Given the description of an element on the screen output the (x, y) to click on. 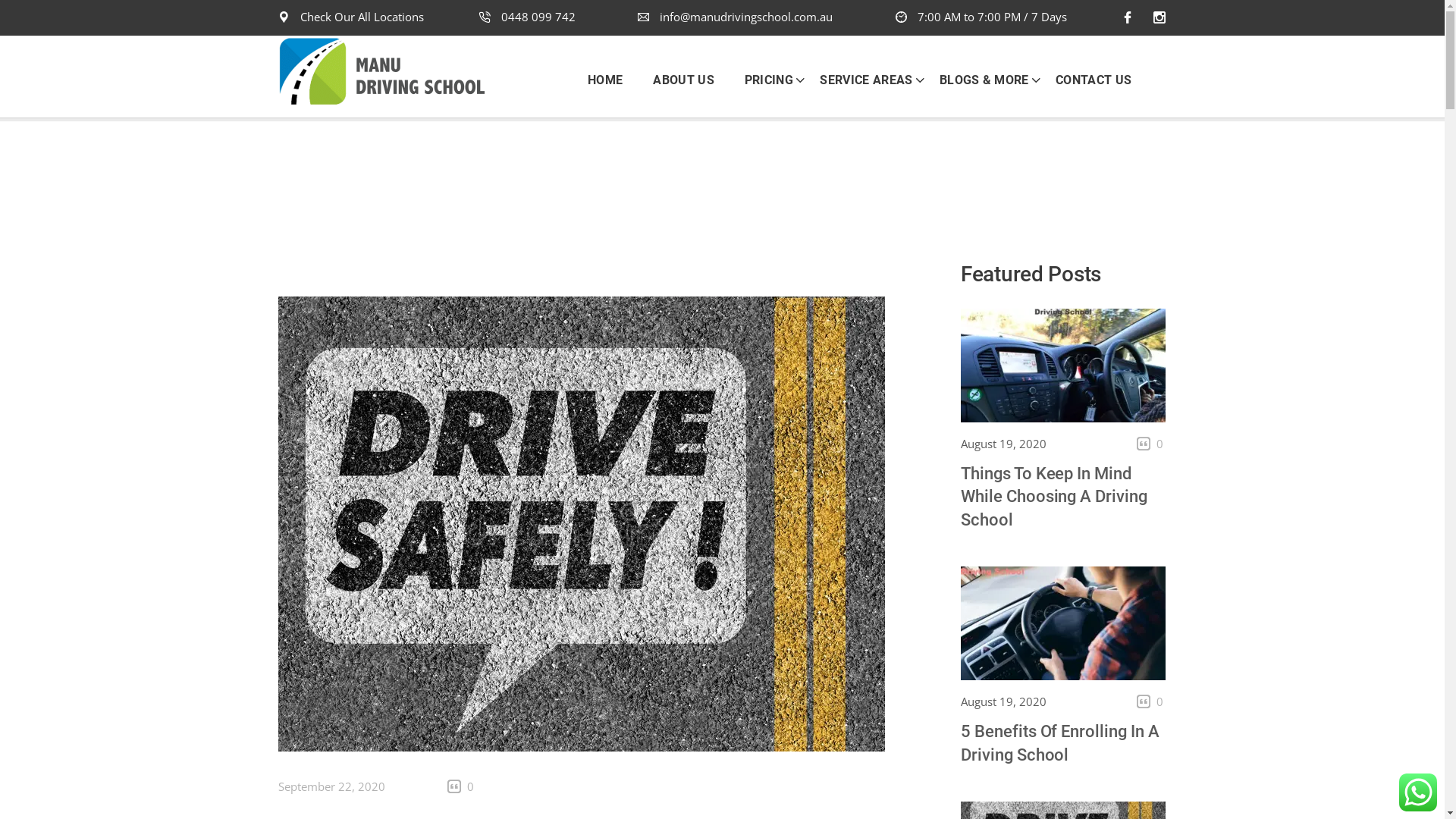
PRICING Element type: text (762, 80)
WhatsApp us Element type: hover (1418, 792)
BLOGS & MORE Element type: text (978, 80)
CONTACT US Element type: text (1085, 80)
Check Our All Locations Element type: text (361, 16)
Things To Keep In Mind While Choosing A Driving School Element type: text (1053, 497)
August 19, 2020 Element type: text (1003, 701)
info@manudrivingschool.com.au Element type: text (734, 16)
5 Benefits Of Enrolling In A Driving School Element type: text (1059, 742)
HOME Element type: text (612, 80)
September 22, 2020 Element type: text (331, 785)
ABOUT US Element type: text (683, 80)
August 19, 2020 Element type: text (1003, 443)
SERVICE AREAS Element type: text (859, 80)
0448 099 742 Element type: text (527, 16)
